Given the description of an element on the screen output the (x, y) to click on. 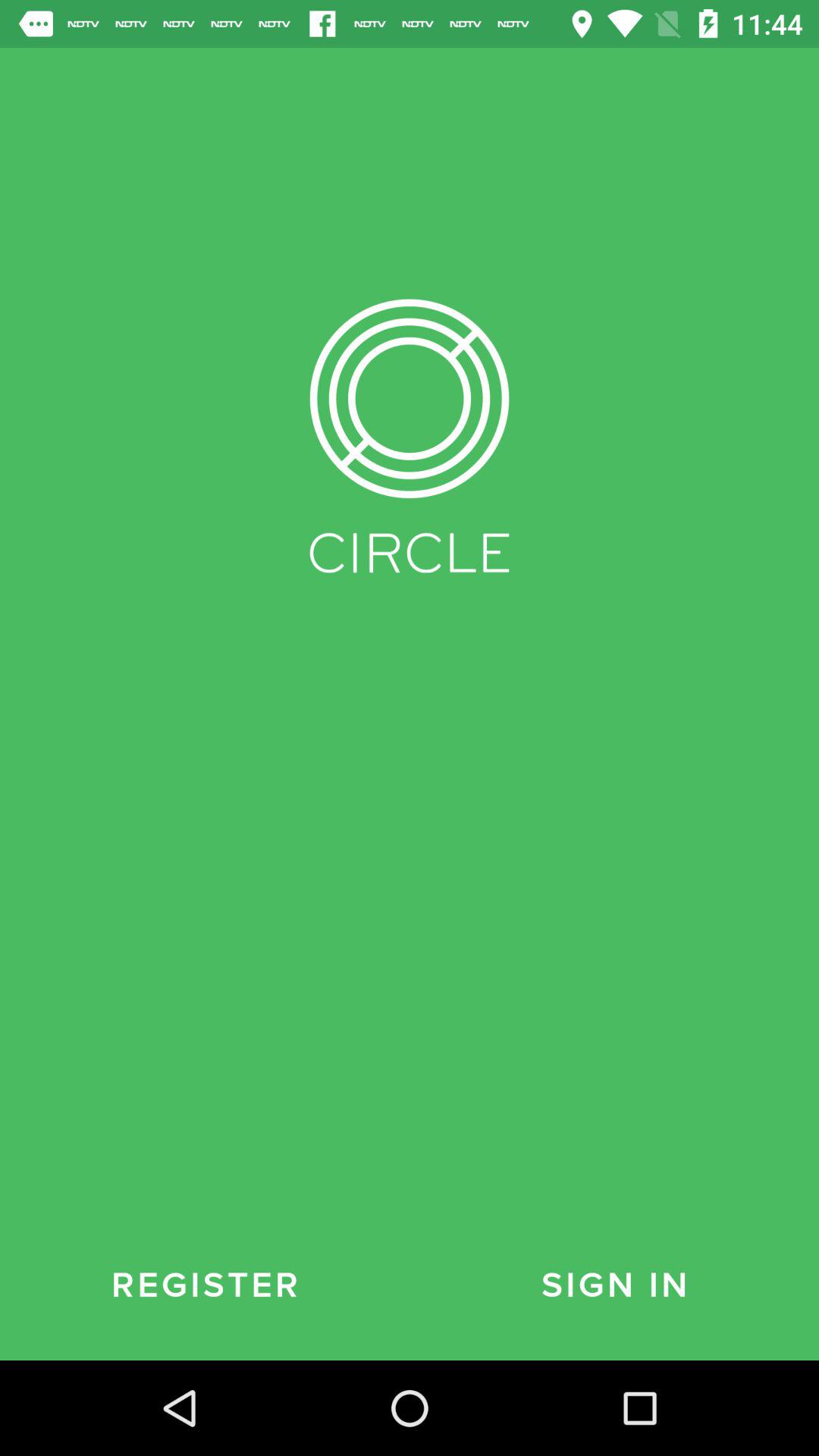
click sign in at the bottom right corner (614, 1285)
